Given the description of an element on the screen output the (x, y) to click on. 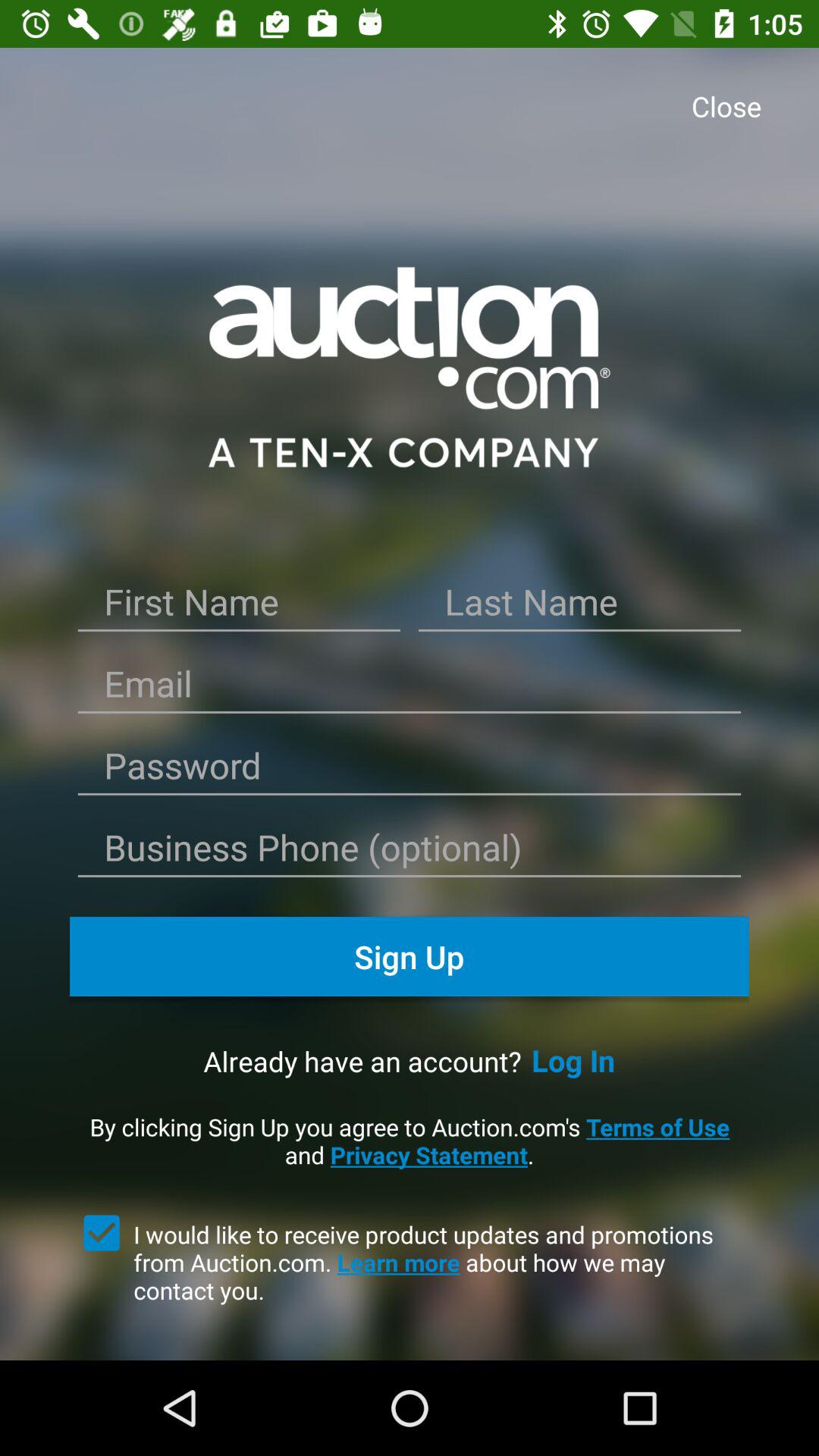
turn off item at the bottom right corner (573, 1060)
